Given the description of an element on the screen output the (x, y) to click on. 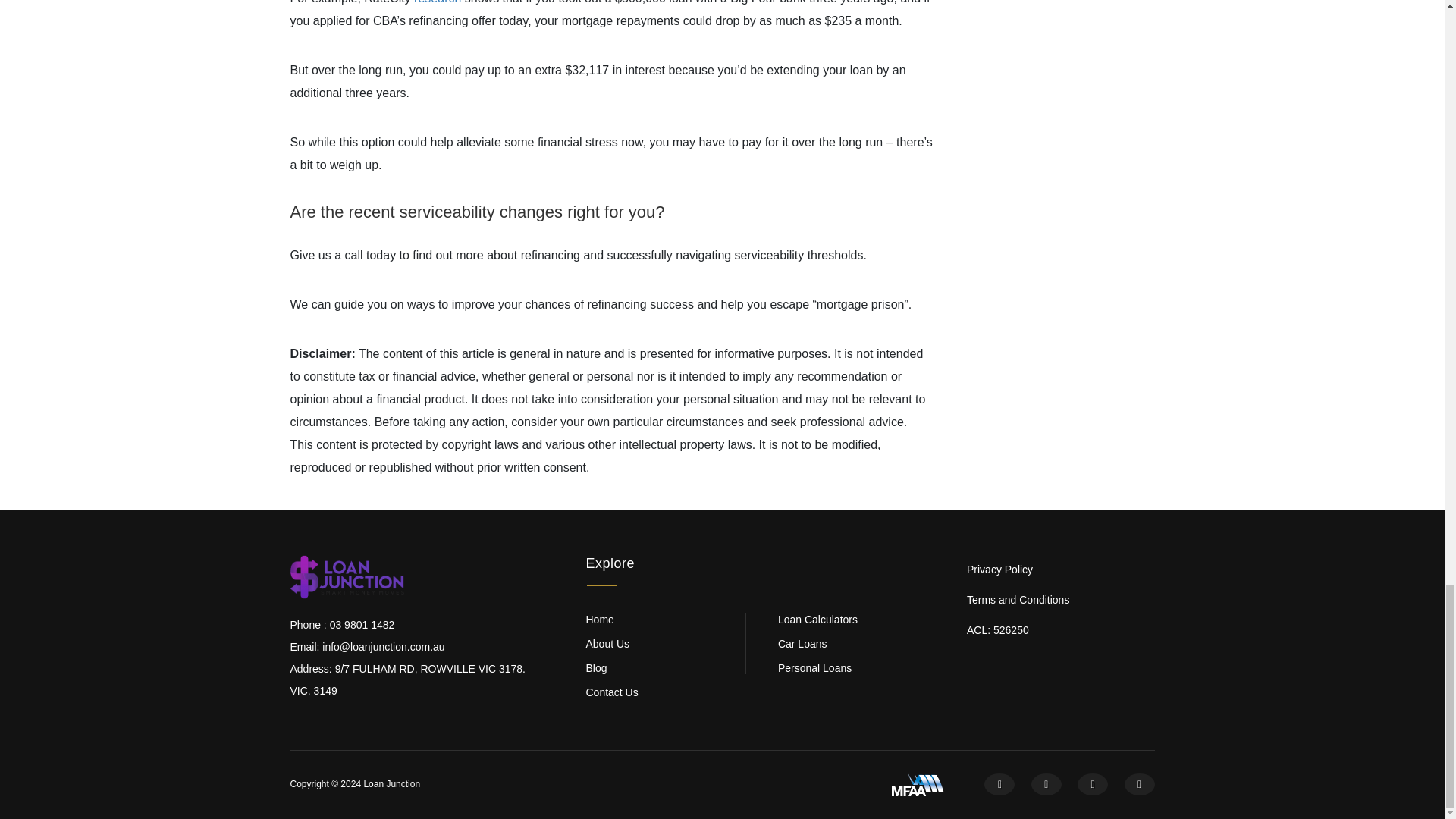
Home (664, 619)
Contact Us (664, 692)
About Us (664, 644)
Loan Calculators (855, 619)
Privacy Policy (1054, 570)
Car Loans (855, 644)
Terms and Conditions (1054, 600)
research (437, 2)
Blog (664, 667)
Personal Loans (855, 667)
